Given the description of an element on the screen output the (x, y) to click on. 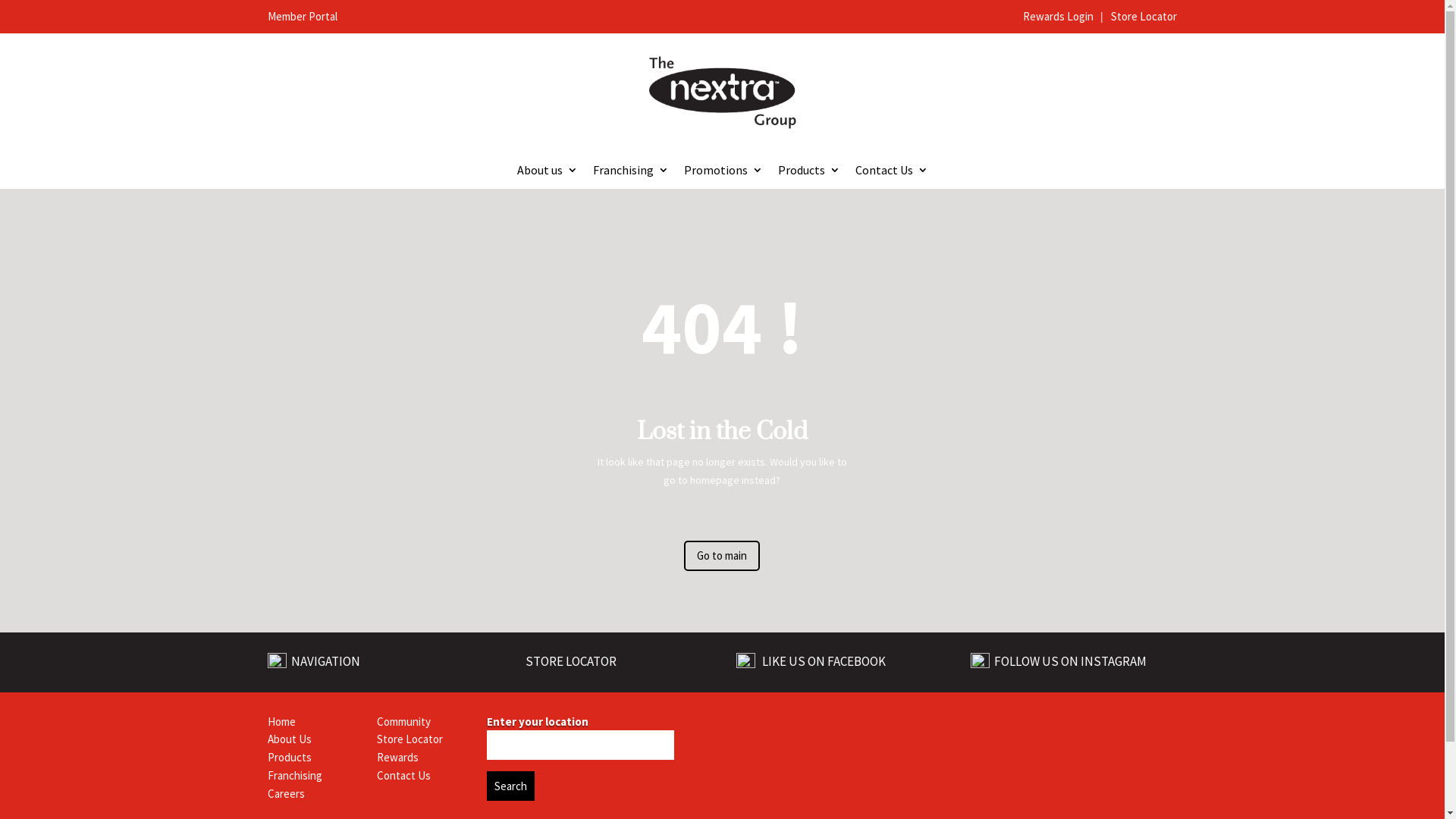
Community Element type: text (403, 721)
About Us Element type: text (288, 738)
nextra Element type: hover (904, 731)
Contact Us Element type: text (403, 775)
Franchising Element type: text (630, 172)
Home Element type: text (280, 721)
Search Element type: text (510, 785)
nextra_logo Element type: hover (721, 92)
Franchising Element type: text (293, 775)
Promotions Element type: text (723, 172)
Products Element type: text (809, 172)
About us Element type: text (547, 172)
Products Element type: text (288, 756)
Careers Element type: text (285, 793)
Store Locator Element type: text (1143, 16)
LIKE US ON FACEBOOK Element type: text (822, 661)
FOLLOW US ON INSTAGRAM Element type: text (1068, 660)
Go to main Element type: text (721, 555)
Store Locator Element type: text (409, 738)
Contact Us Element type: text (891, 172)
Rewards Login Element type: text (1058, 16)
Rewards Element type: text (397, 756)
